Given the description of an element on the screen output the (x, y) to click on. 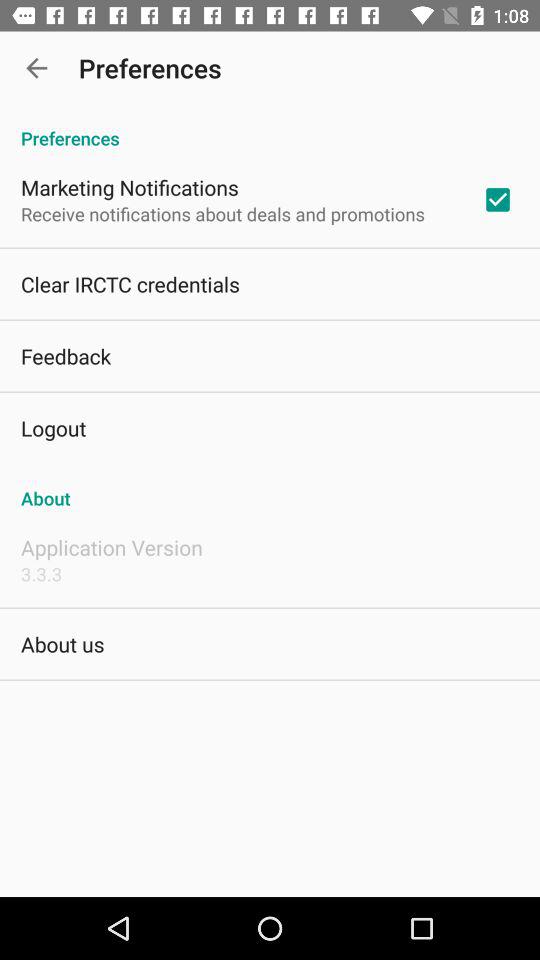
open the icon below the feedback icon (53, 428)
